Given the description of an element on the screen output the (x, y) to click on. 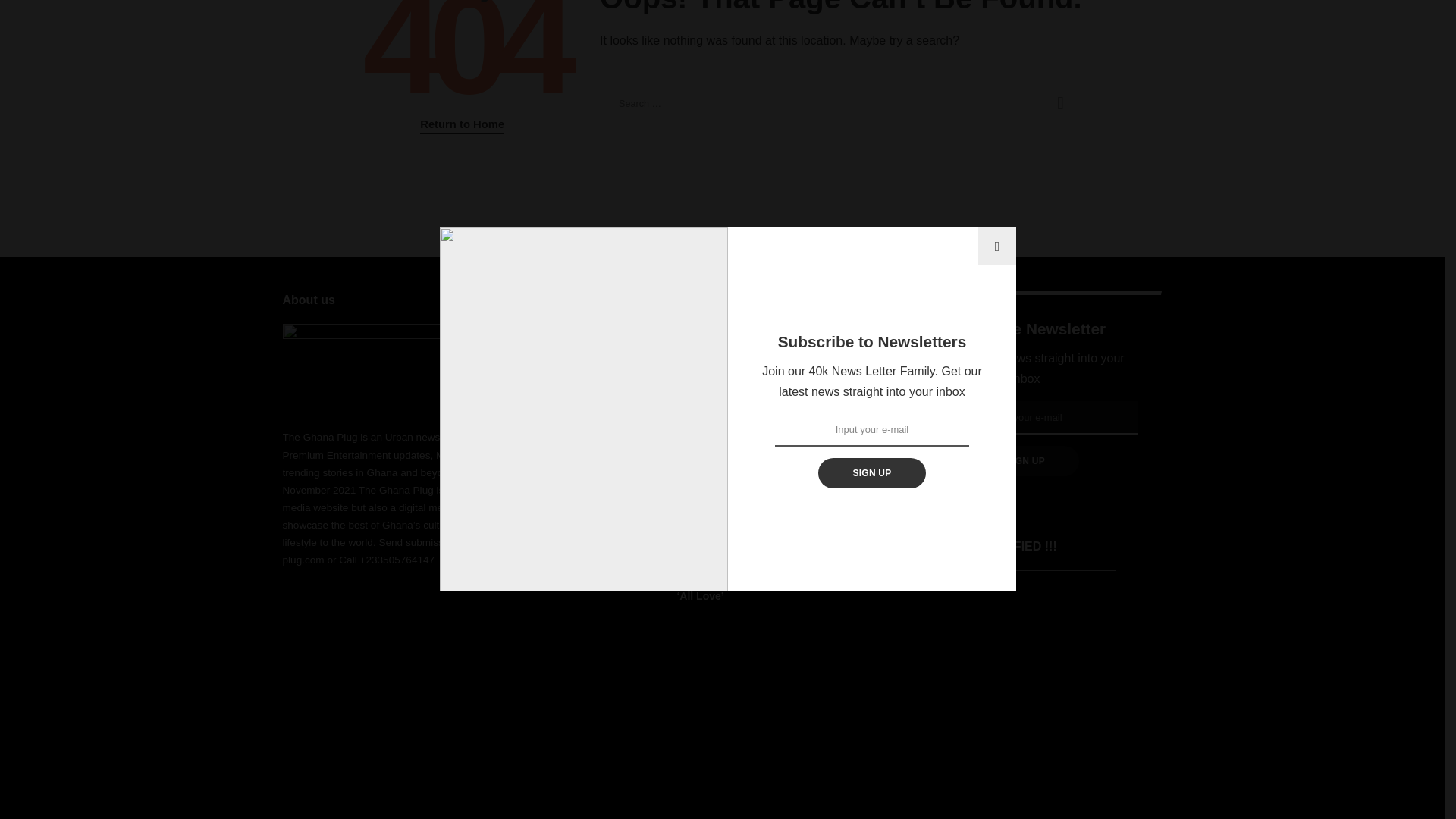
SIGN UP (871, 250)
Search (1060, 102)
Search (1060, 102)
